Given the description of an element on the screen output the (x, y) to click on. 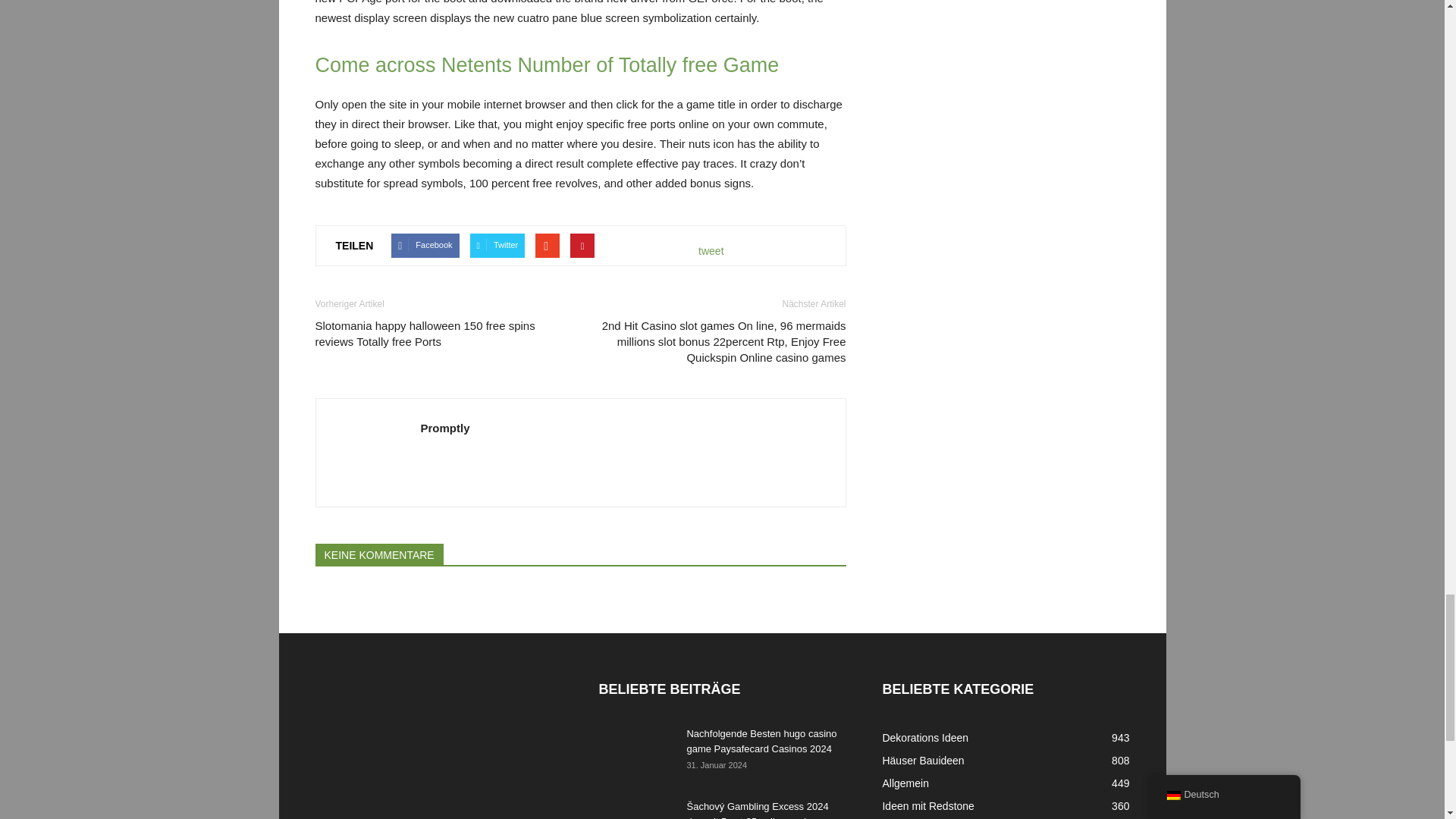
Minecraft-Bauideen.de Logo (429, 747)
